Given the description of an element on the screen output the (x, y) to click on. 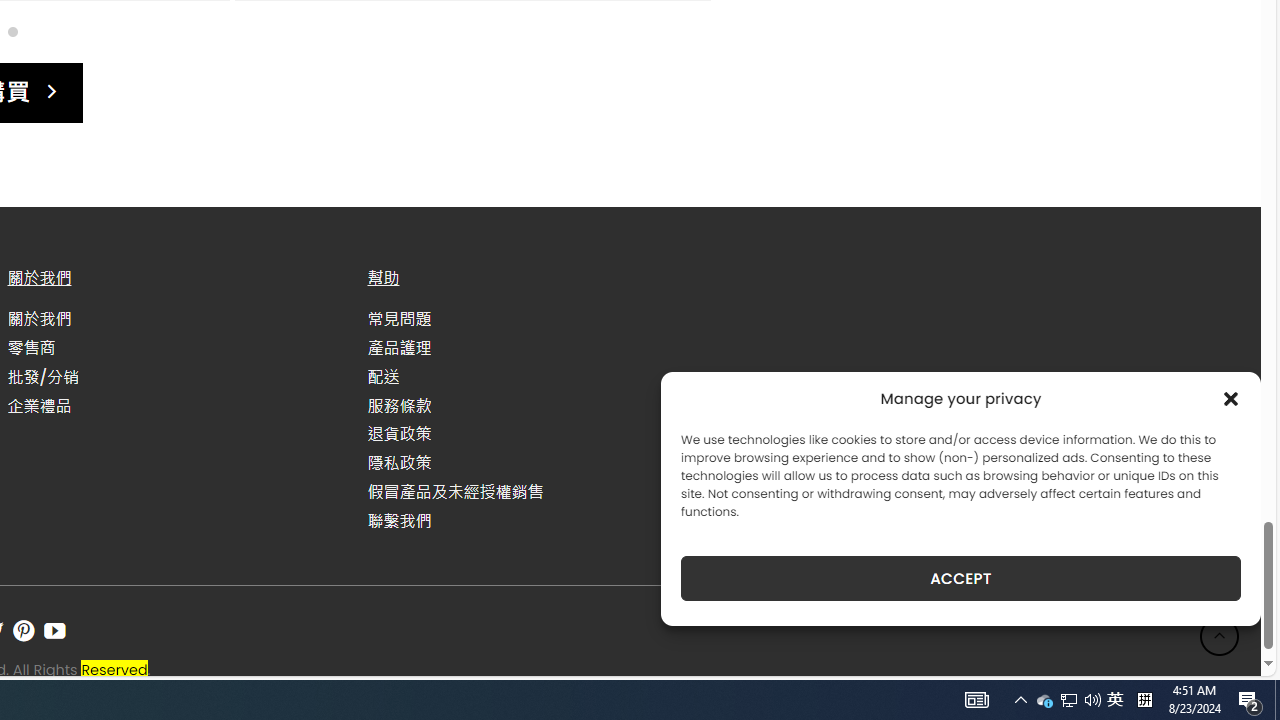
Class: cmplz-close (1231, 398)
